Given the description of an element on the screen output the (x, y) to click on. 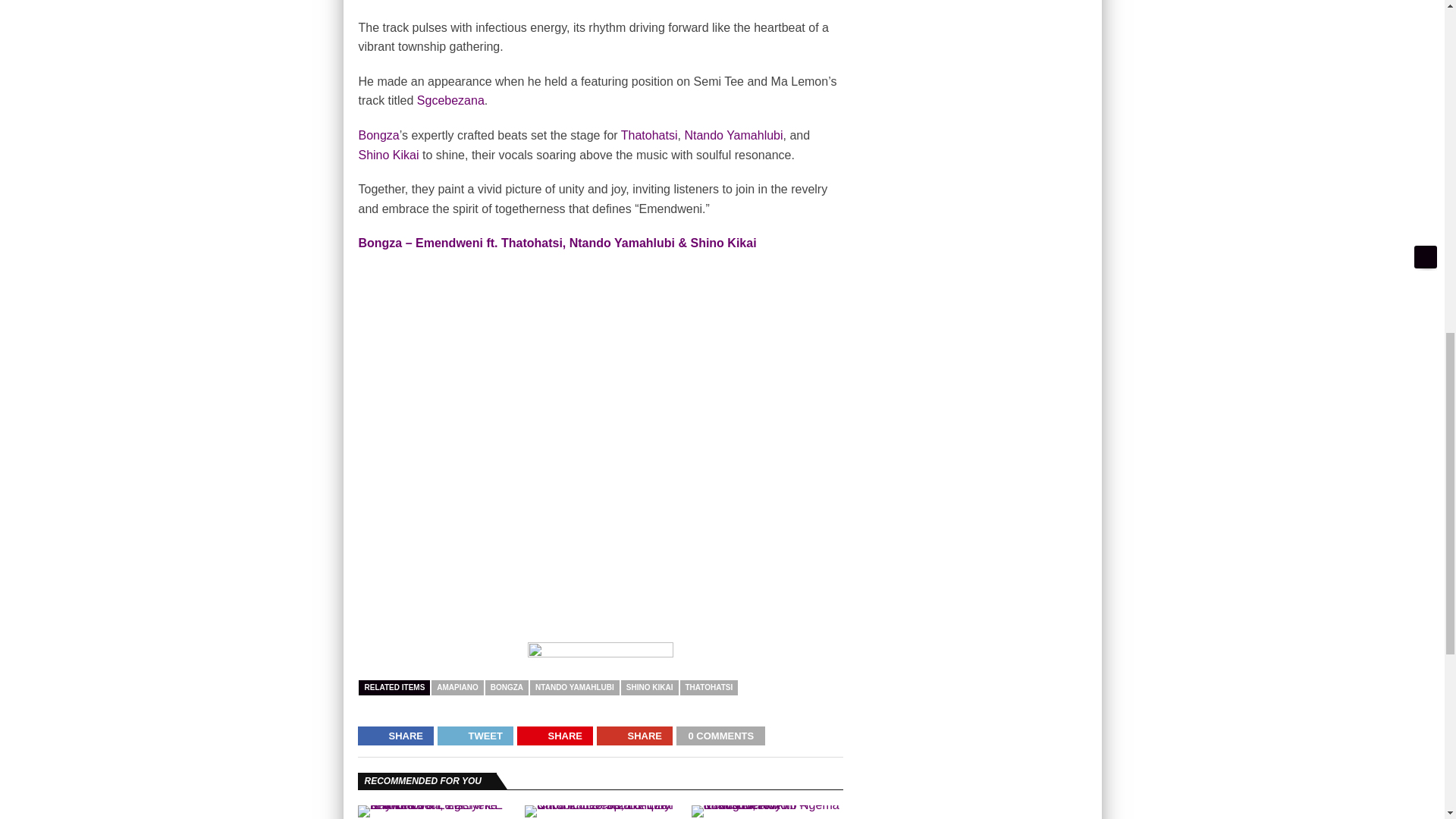
Thatohatsi (649, 134)
Bongza (378, 134)
NTANDO YAMAHLUBI (574, 686)
SHINO KIKAI (649, 686)
THATOHATSI (708, 686)
Sgcebezana (450, 100)
Shino Kikai (388, 154)
Ntando Yamahlubi (733, 134)
Ntando Yamahlubi (733, 134)
Bongza (378, 134)
